Given the description of an element on the screen output the (x, y) to click on. 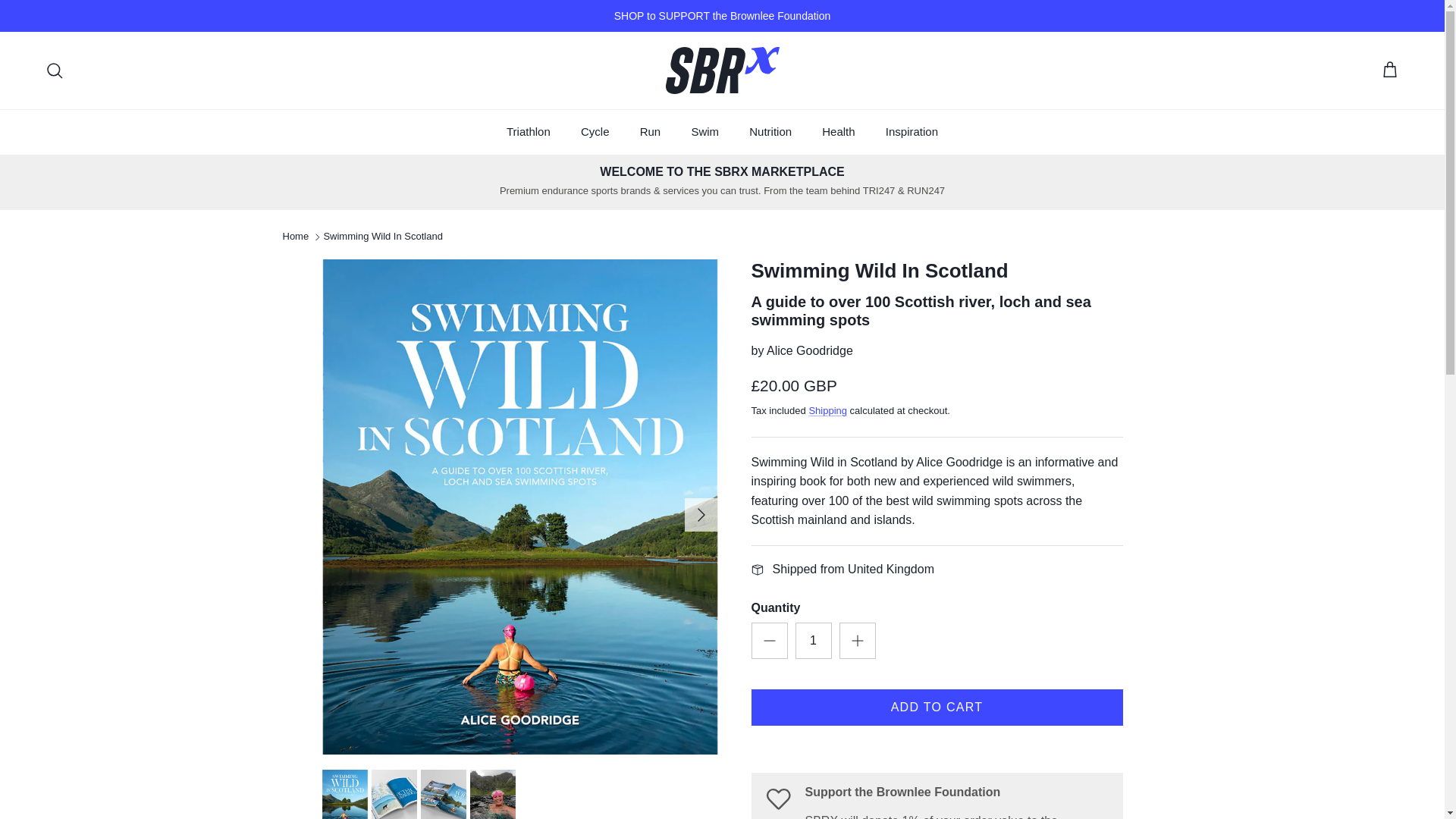
Search (54, 70)
Cycle (595, 131)
1 (812, 640)
SBRX (721, 70)
Cart (1389, 70)
Triathlon (528, 131)
